Given the description of an element on the screen output the (x, y) to click on. 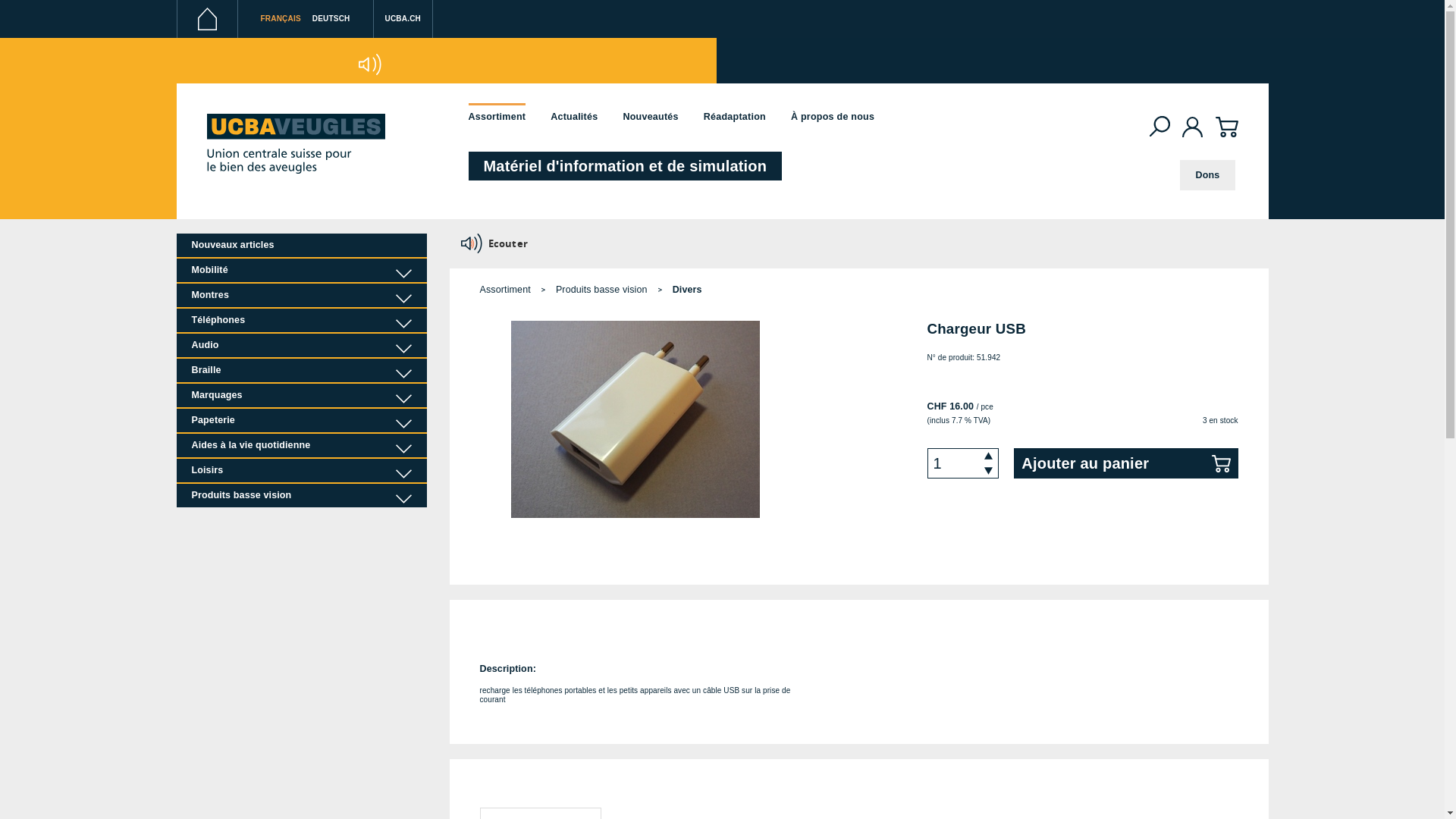
User Element type: hover (1192, 127)
Ecouter Element type: hover (369, 64)
Panier / Caisse Element type: hover (1225, 135)
Dons Element type: text (1206, 175)
Audio Element type: text (300, 345)
Imprimer Element type: hover (433, 64)
Ajouter au panier Element type: hover (1125, 463)
UCBA.CH Element type: text (403, 22)
Produits basse vision Element type: text (602, 289)
Contact Element type: hover (498, 64)
Start Element type: hover (295, 142)
Montres Element type: text (300, 295)
Nouveaux articles Element type: text (300, 245)
Divers Element type: text (687, 289)
Loisirs Element type: text (300, 470)
DEUTSCH Element type: text (331, 18)
Braille Element type: text (300, 370)
Ajouter au panier Element type: text (1125, 463)
A Element type: text (213, 59)
Assortiment Element type: text (497, 116)
Vers la recherche Element type: text (1159, 126)
Ecouter Element type: text (495, 243)
Home Element type: text (206, 18)
Inverser Element type: hover (304, 64)
Marquages Element type: text (300, 395)
Assortiment Element type: text (509, 289)
A Element type: text (233, 57)
Produits basse vision Element type: text (300, 495)
Papeterie Element type: text (300, 420)
A Element type: text (221, 58)
